Given the description of an element on the screen output the (x, y) to click on. 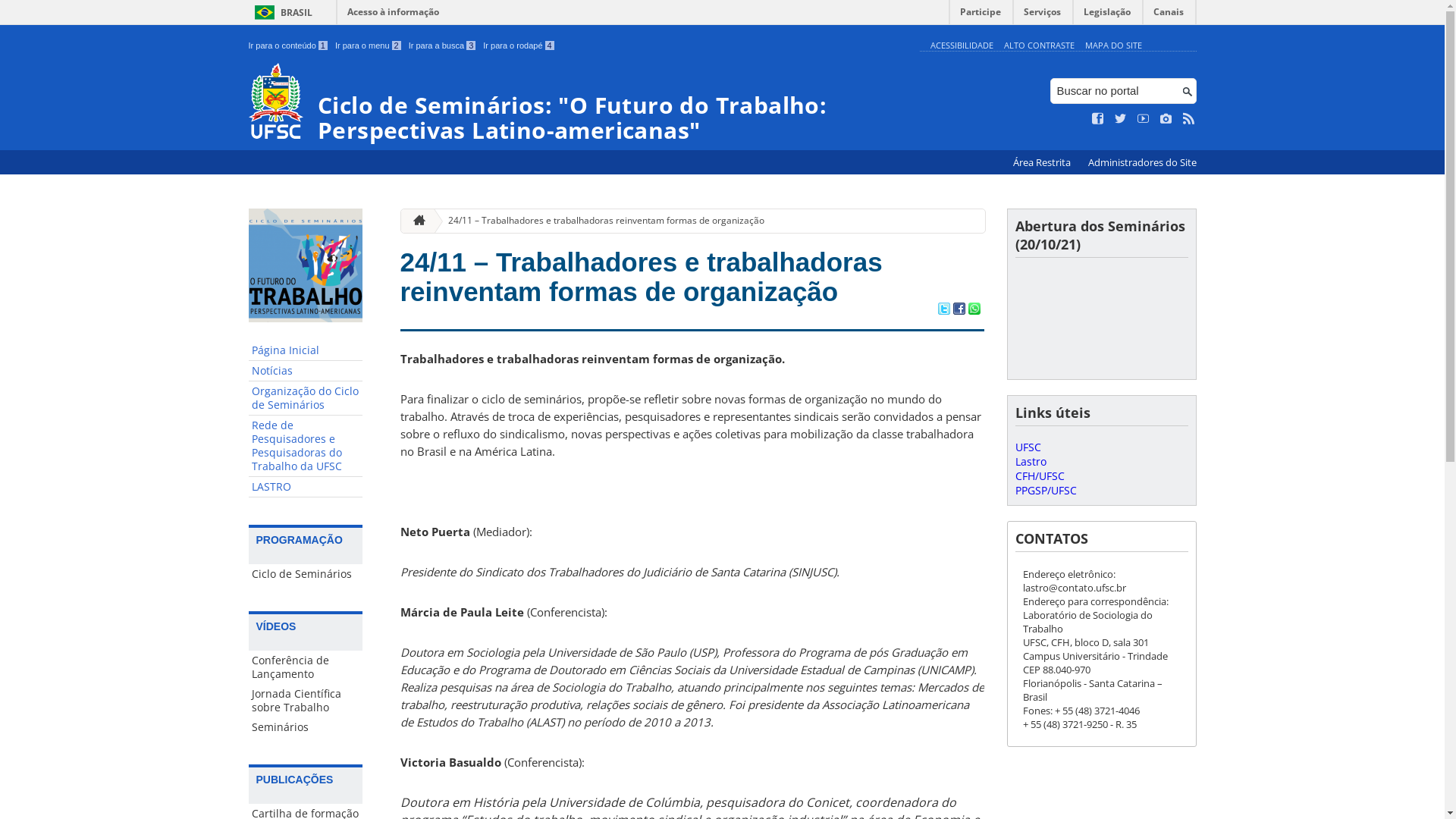
MAPA DO SITE Element type: text (1112, 44)
UFSC Element type: text (1027, 446)
PPGSP/UFSC Element type: text (1045, 490)
BRASIL Element type: text (280, 12)
Compartilhar no WhatsApp Element type: hover (973, 309)
ALTO CONTRASTE Element type: text (1039, 44)
Ir para o menu 2 Element type: text (368, 45)
LASTRO Element type: text (305, 486)
Ir para a busca 3 Element type: text (442, 45)
CFH/UFSC Element type: text (1038, 475)
Compartilhar no Facebook Element type: hover (958, 309)
Veja no Instagram Element type: hover (1166, 118)
Lastro Element type: text (1029, 461)
Curta no Facebook Element type: hover (1098, 118)
Rede de Pesquisadores e Pesquisadoras do Trabalho da UFSC Element type: text (305, 445)
Participe Element type: text (980, 15)
Siga no Twitter Element type: hover (1120, 118)
Compartilhar no Twitter Element type: hover (943, 309)
Administradores do Site Element type: text (1141, 162)
Canais Element type: text (1169, 15)
ACESSIBILIDADE Element type: text (960, 44)
